Given the description of an element on the screen output the (x, y) to click on. 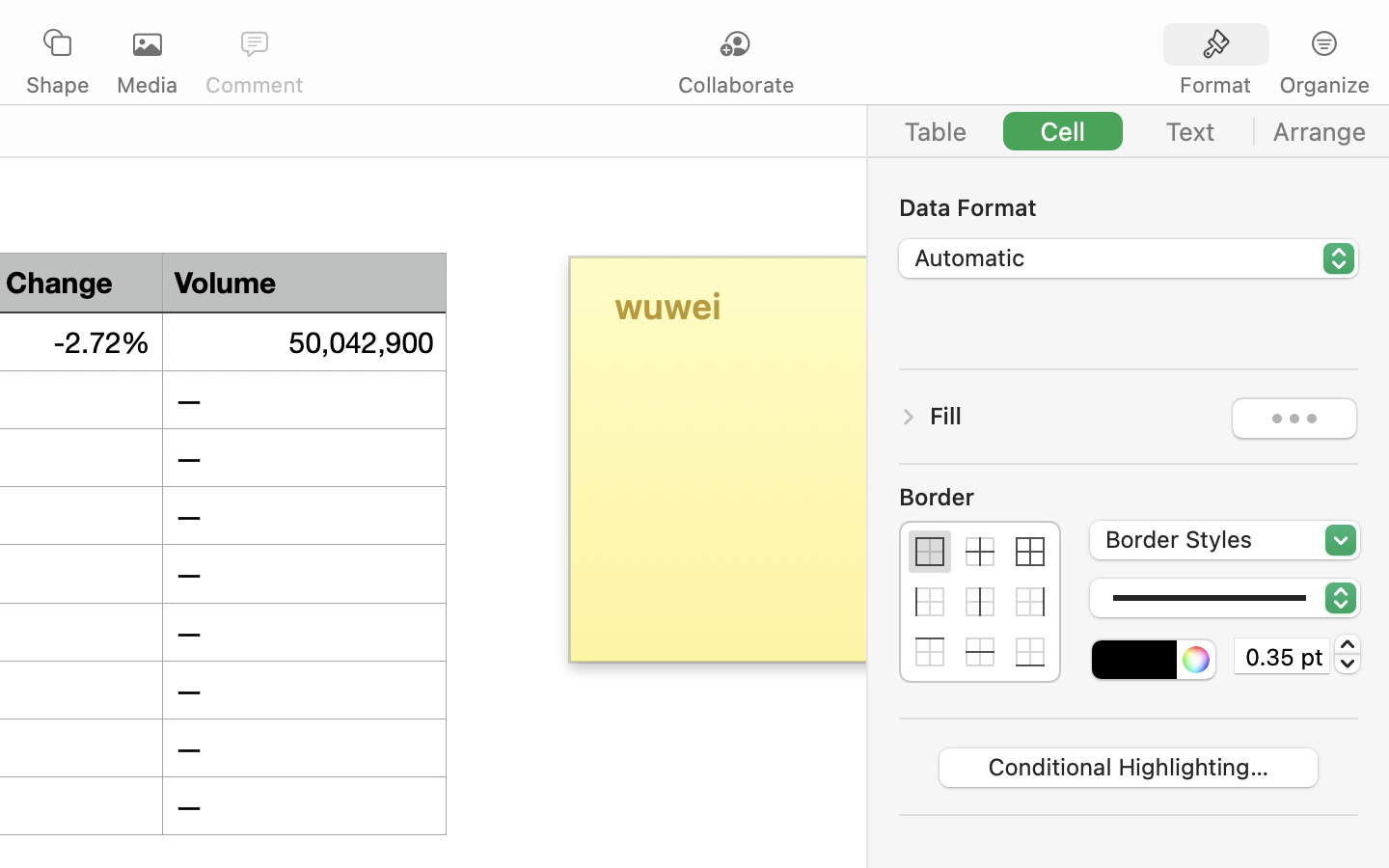
Organize Element type: AXStaticText (1323, 84)
0.35 pt Element type: AXTextField (1281, 655)
Data Format Element type: AXStaticText (1128, 206)
<AXUIElement 0x155699720> {pid=1420} Element type: AXRadioGroup (1128, 131)
